Given the description of an element on the screen output the (x, y) to click on. 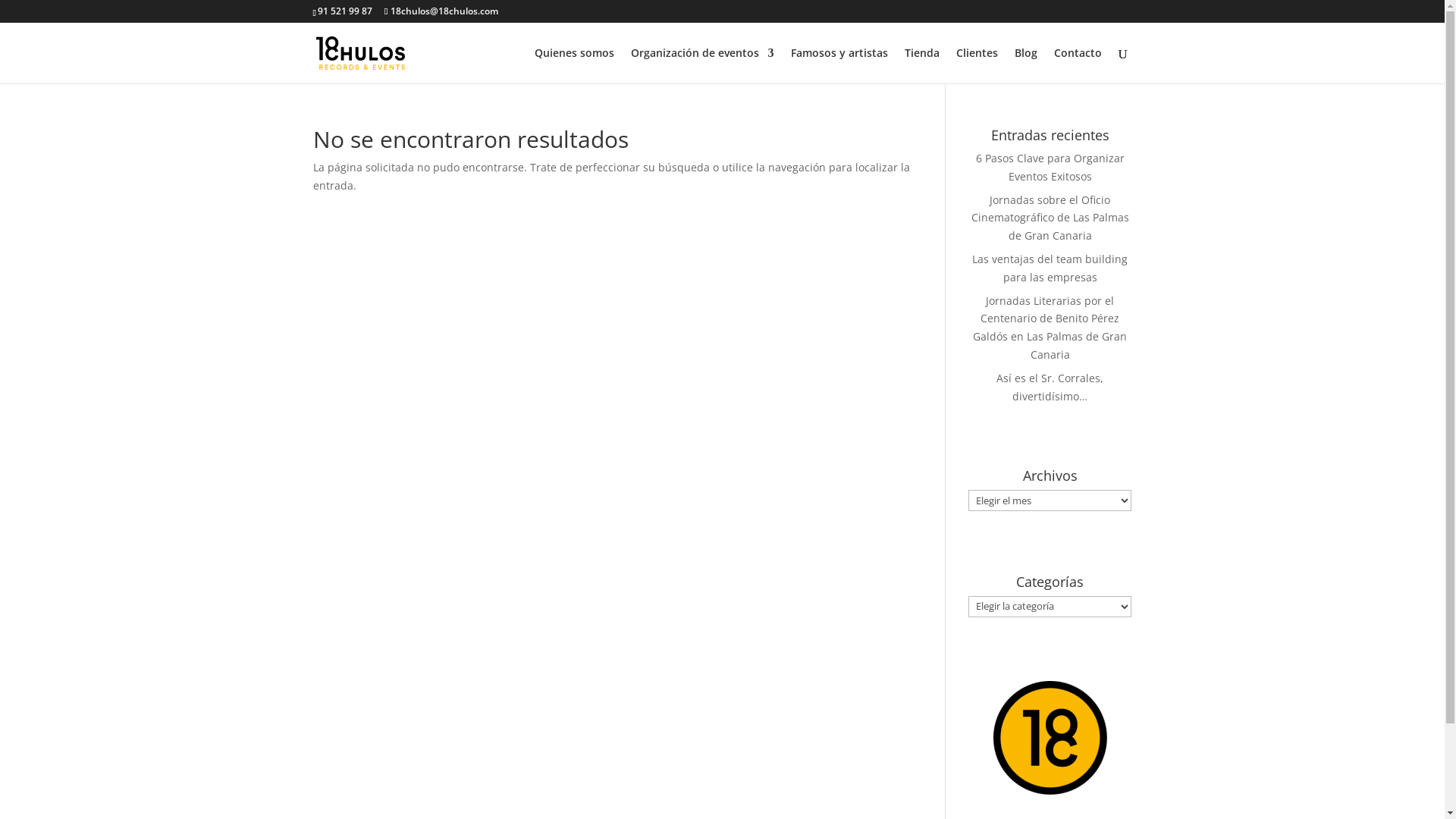
6 Pasos Clave para Organizar Eventos Exitosos Element type: text (1049, 166)
Tienda Element type: text (920, 65)
Contacto Element type: text (1077, 65)
Clientes Element type: text (976, 65)
Quienes somos Element type: text (573, 65)
Famosos y artistas Element type: text (838, 65)
Blog Element type: text (1025, 65)
Las ventajas del team building para las empresas Element type: text (1049, 267)
18chulos@18chulos.com Element type: text (441, 10)
